Given the description of an element on the screen output the (x, y) to click on. 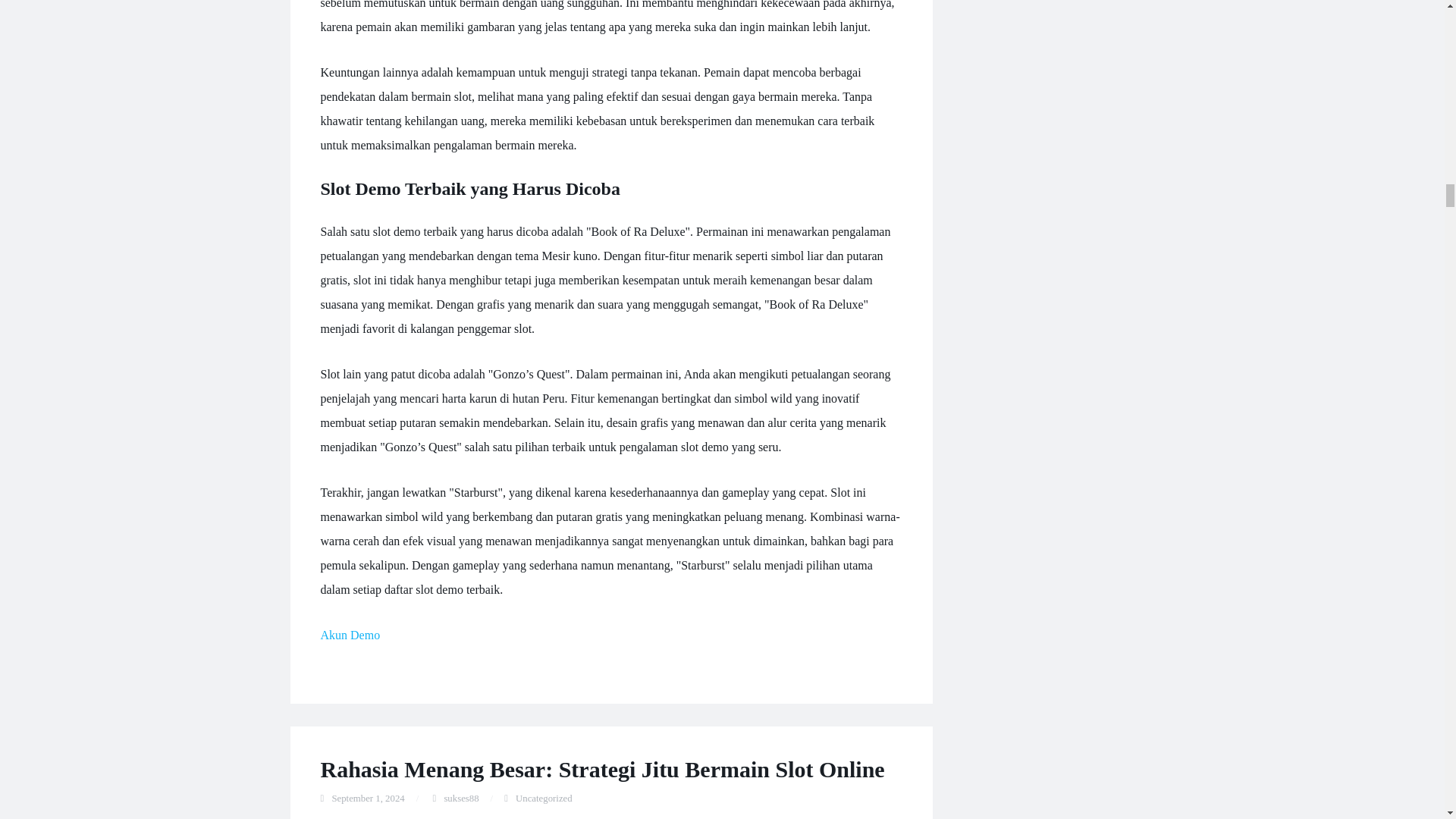
Akun Demo (350, 634)
Rahasia Menang Besar: Strategi Jitu Bermain Slot Online (601, 769)
Uncategorized (543, 798)
September 1, 2024 (367, 798)
sukses88 (461, 798)
